Given the description of an element on the screen output the (x, y) to click on. 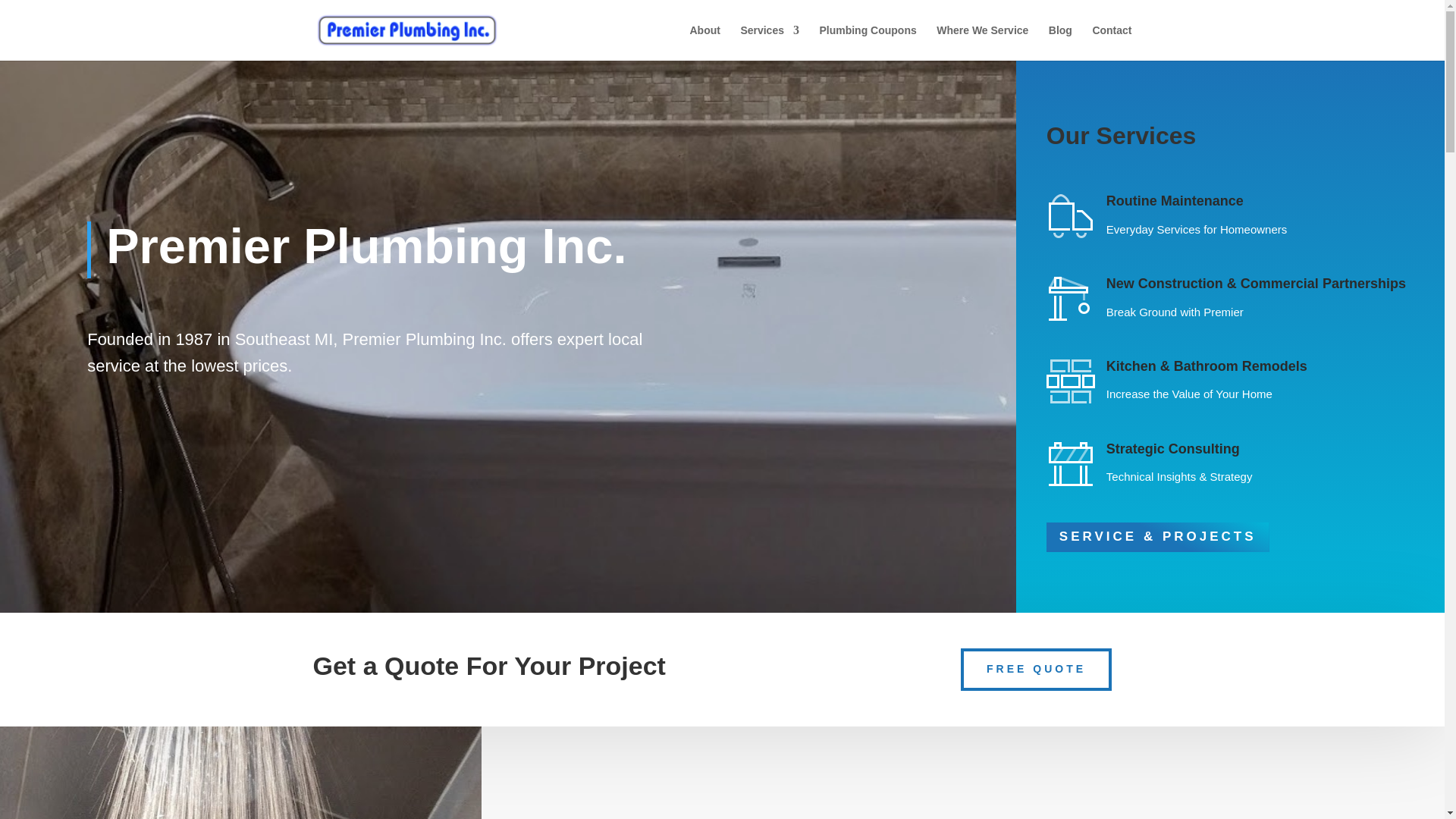
FREE QUOTE (1036, 669)
Where We Service (981, 42)
Contact (1111, 42)
Plumbing Coupons (866, 42)
Services (769, 42)
